Given the description of an element on the screen output the (x, y) to click on. 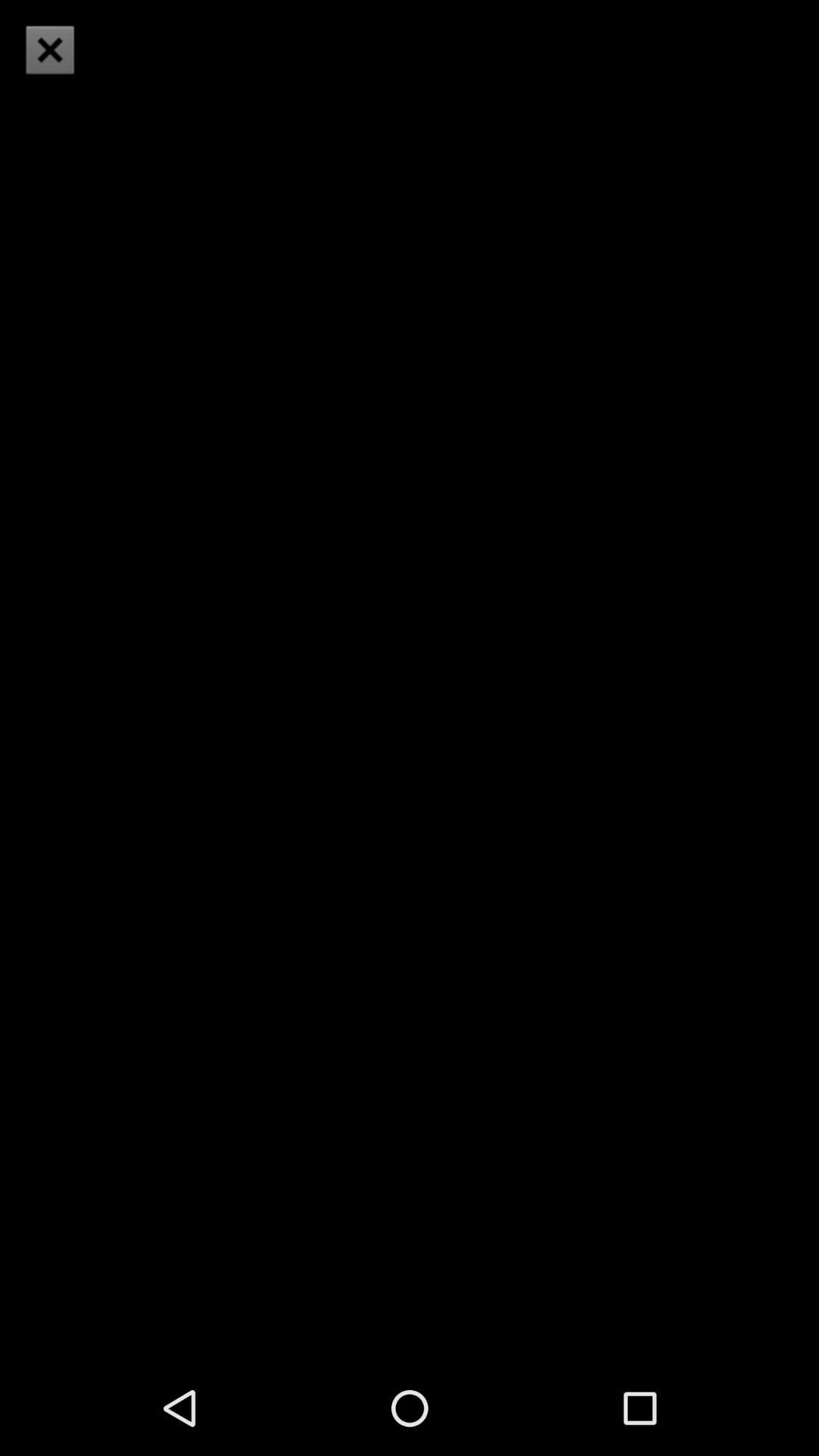
press the item at the center (409, 680)
